Given the description of an element on the screen output the (x, y) to click on. 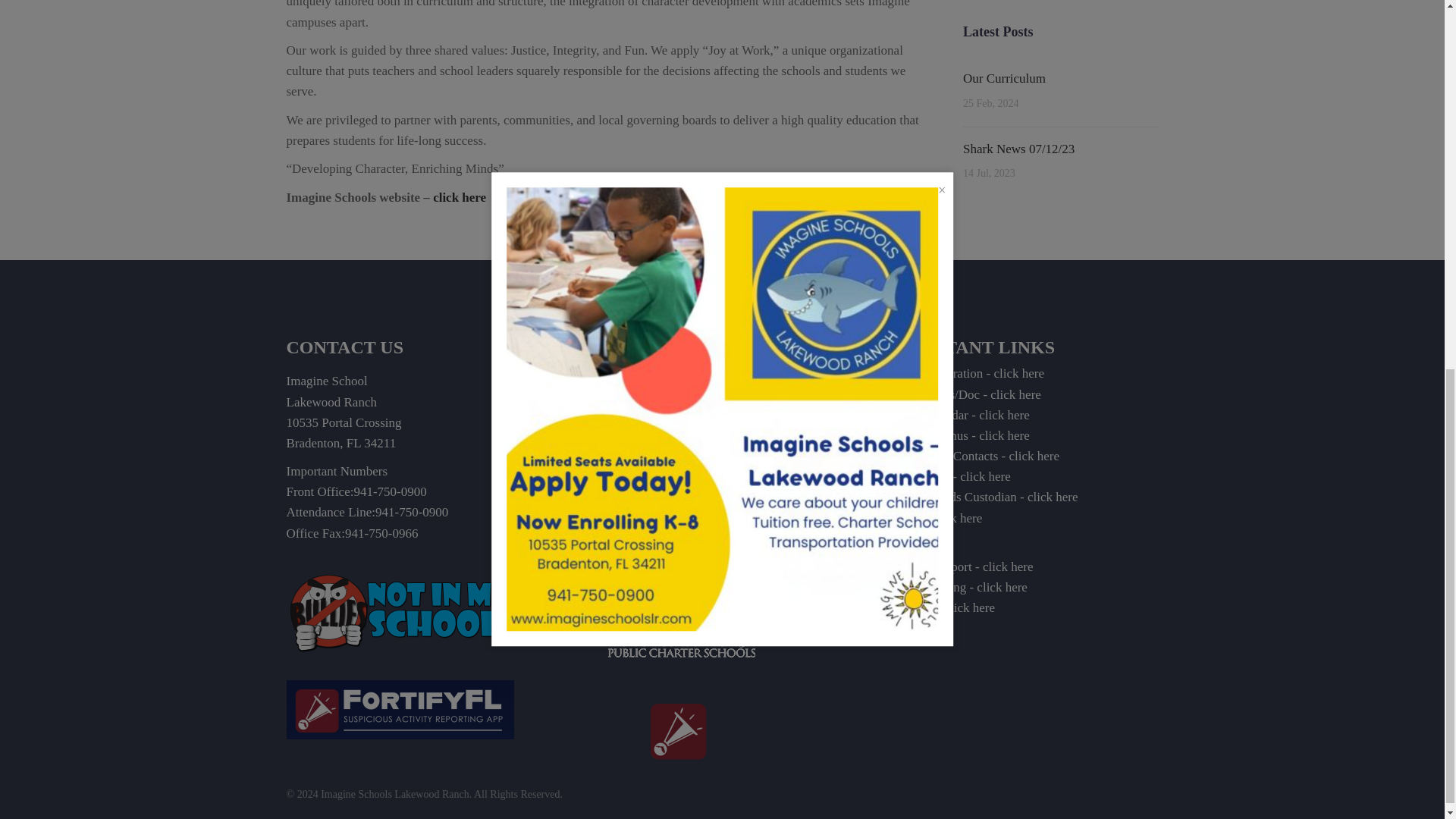
Our Curriculum (1003, 78)
image-14 (399, 611)
image-15 (399, 709)
